Given the description of an element on the screen output the (x, y) to click on. 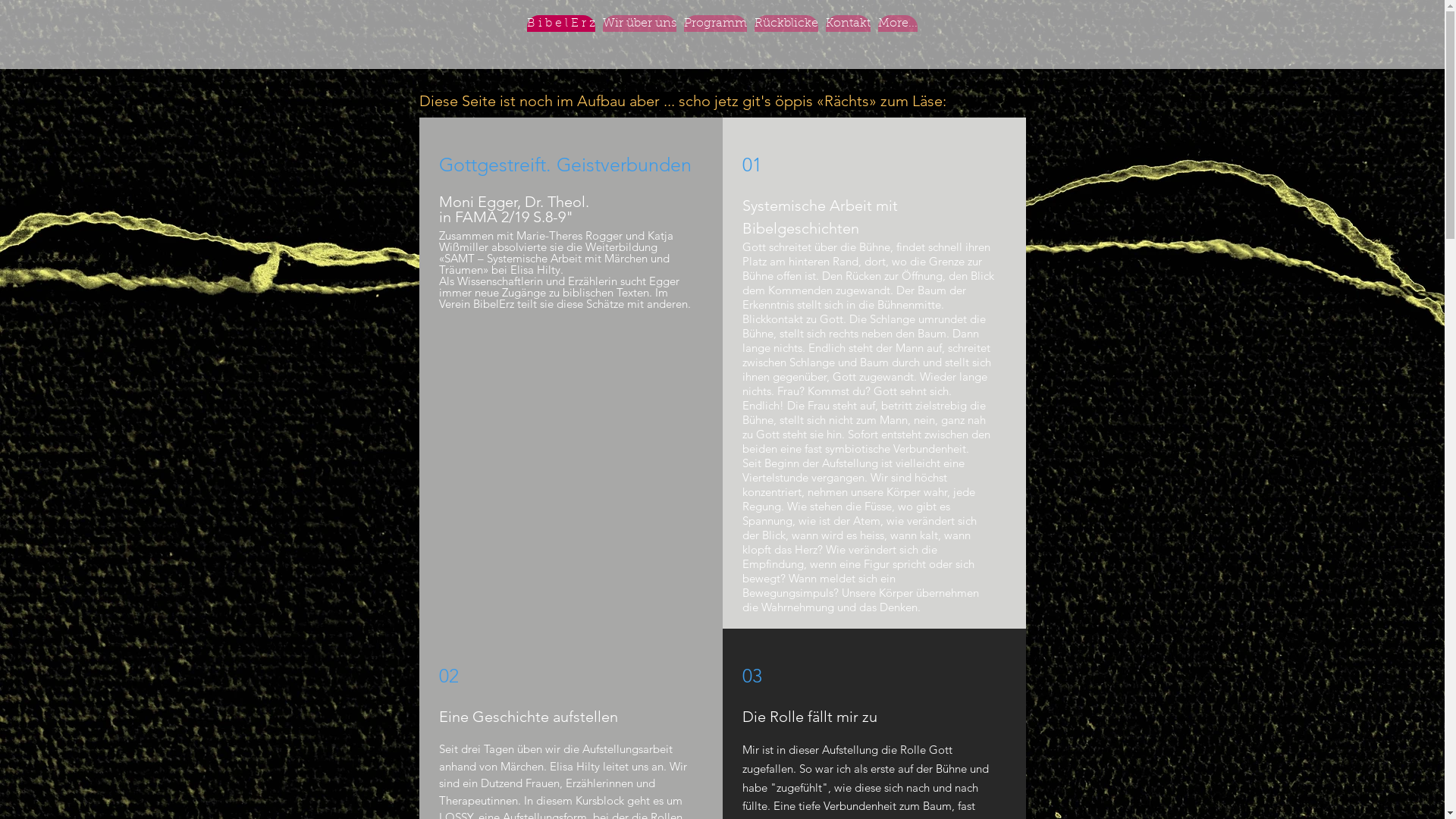
Programm Element type: text (715, 42)
Kontakt Element type: text (847, 42)
B i b e l E r z Element type: text (561, 42)
